Given the description of an element on the screen output the (x, y) to click on. 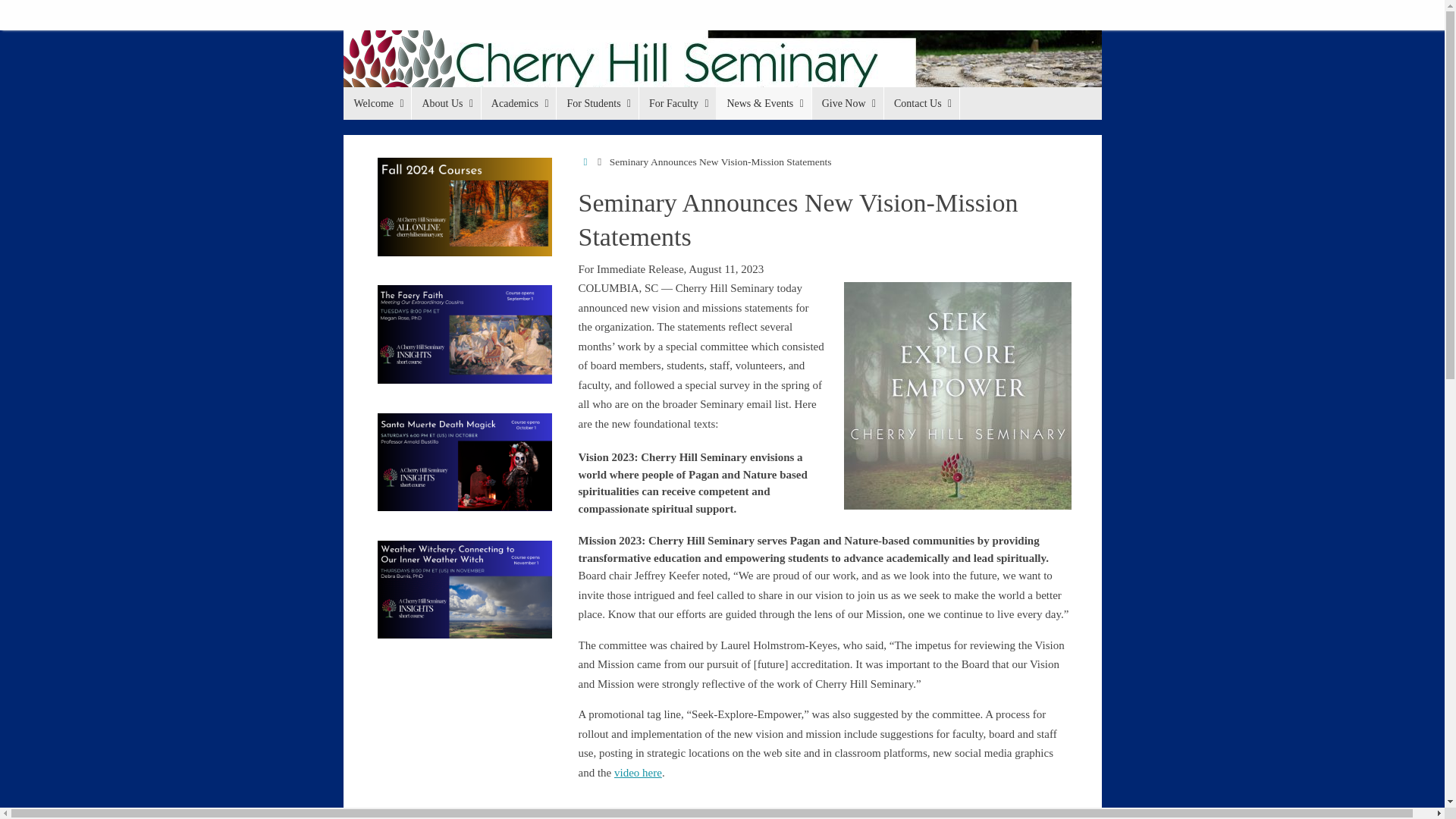
About Us (445, 102)
Academics (518, 102)
Welcome (376, 102)
Cherry Hill Seminary (721, 75)
